Given the description of an element on the screen output the (x, y) to click on. 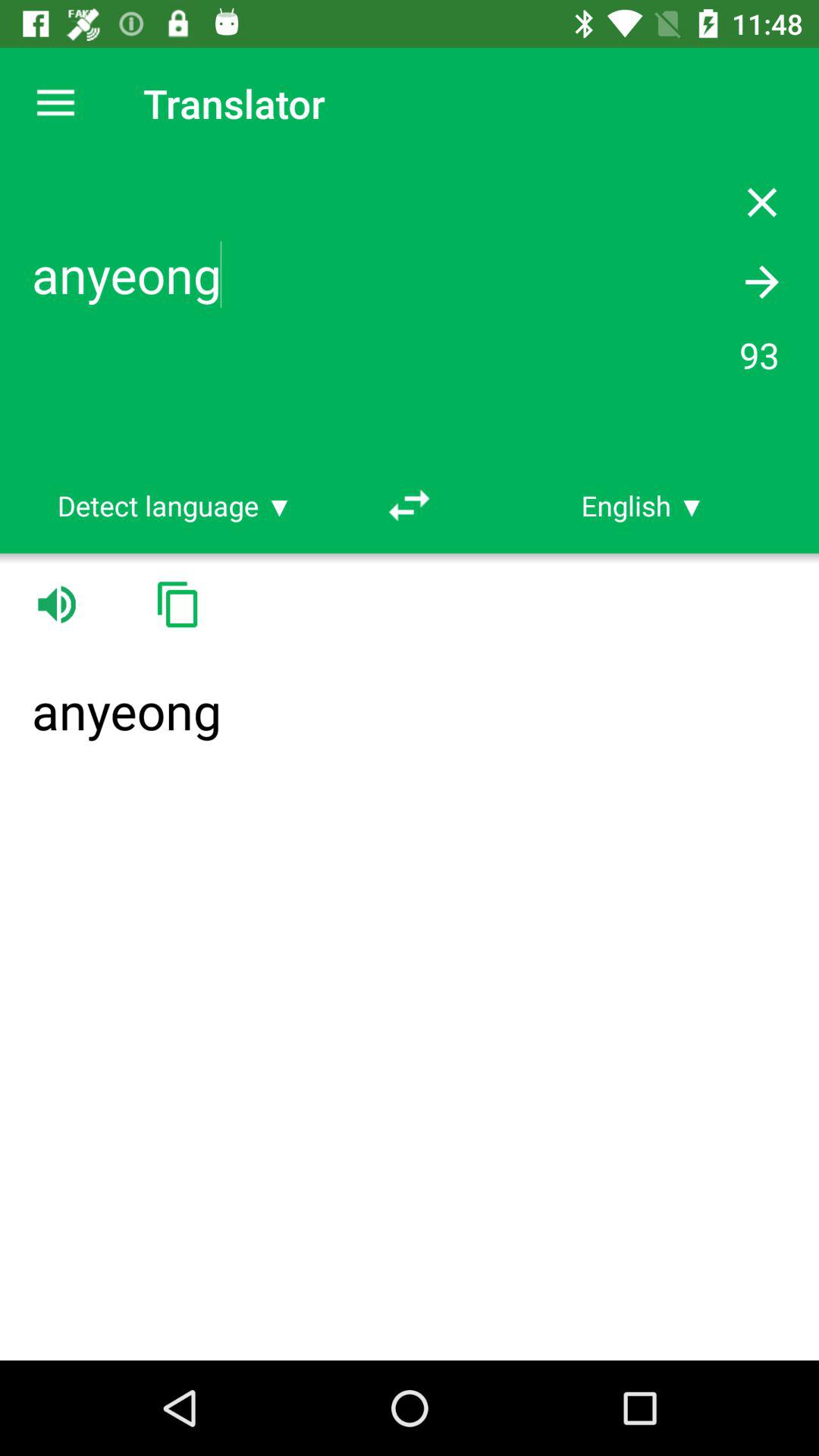
press the item on the right (643, 505)
